Given the description of an element on the screen output the (x, y) to click on. 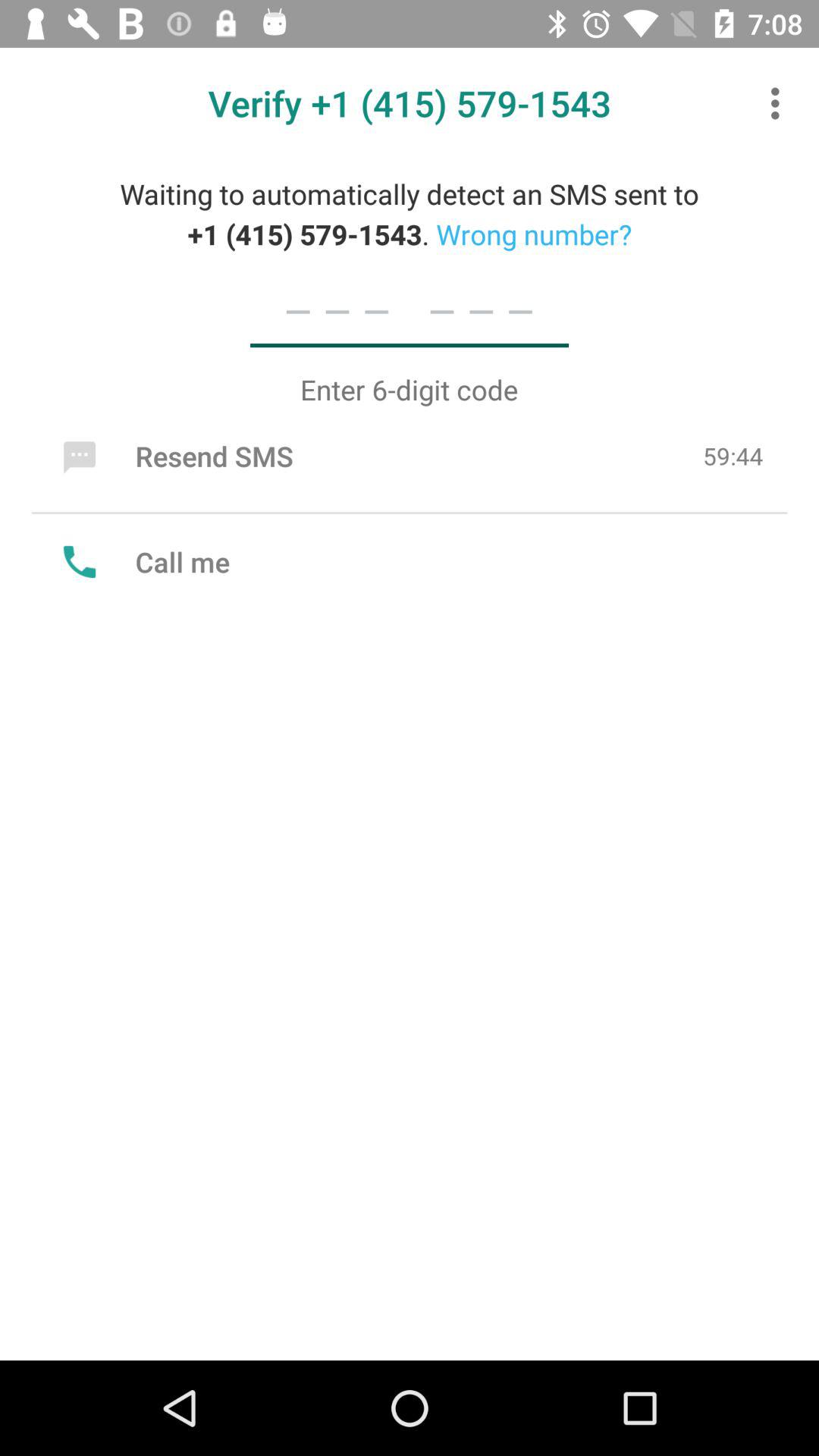
swipe to the call me (142, 561)
